Given the description of an element on the screen output the (x, y) to click on. 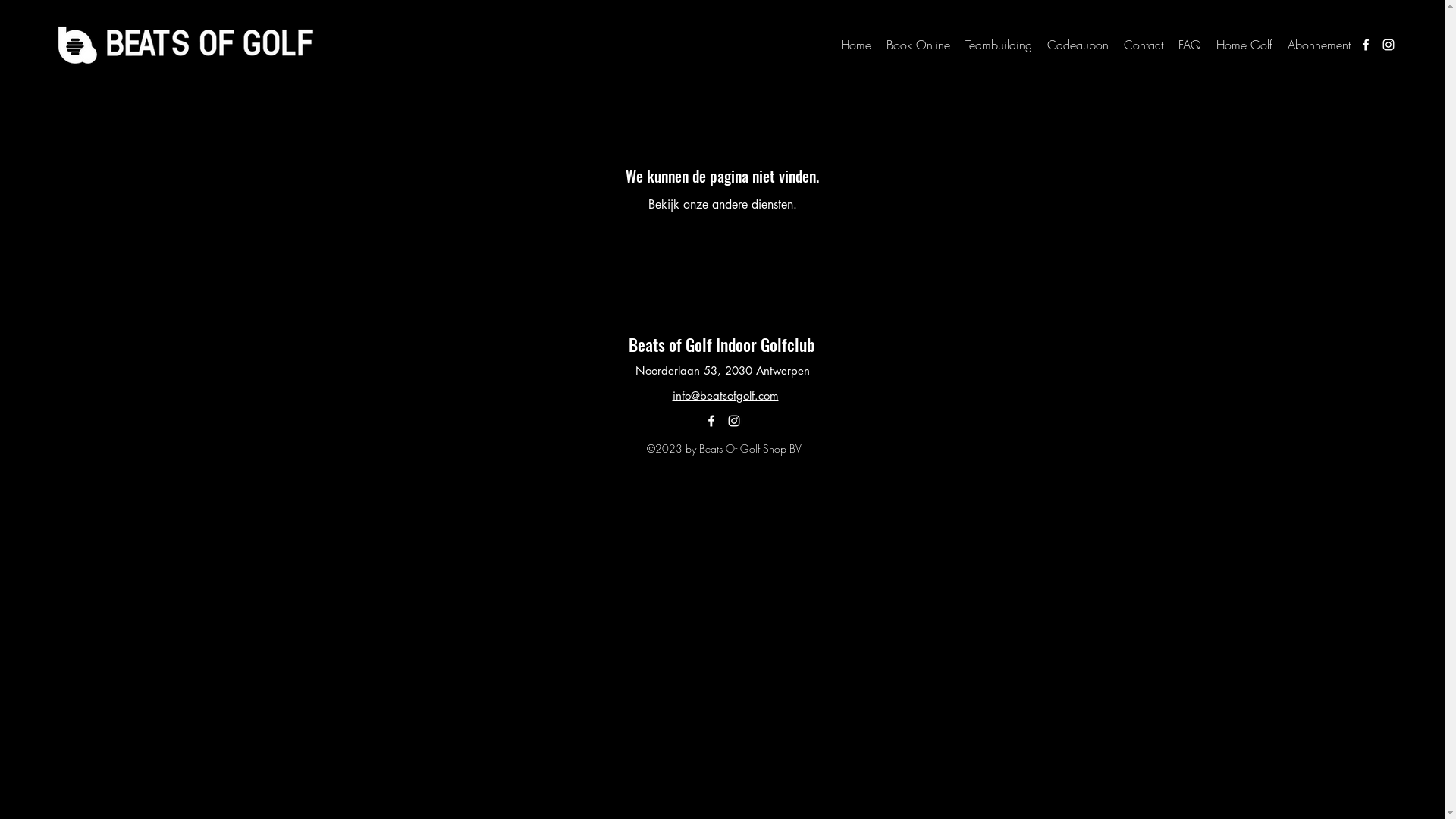
info@beatsofgolf.com Element type: text (724, 395)
Abonnement Element type: text (1319, 44)
Book Online Element type: text (917, 44)
Cadeaubon Element type: text (1077, 44)
Home Element type: text (855, 44)
FAQ Element type: text (1189, 44)
Home Golf Element type: text (1244, 44)
Contact Element type: text (1143, 44)
Teambuilding Element type: text (998, 44)
